Given the description of an element on the screen output the (x, y) to click on. 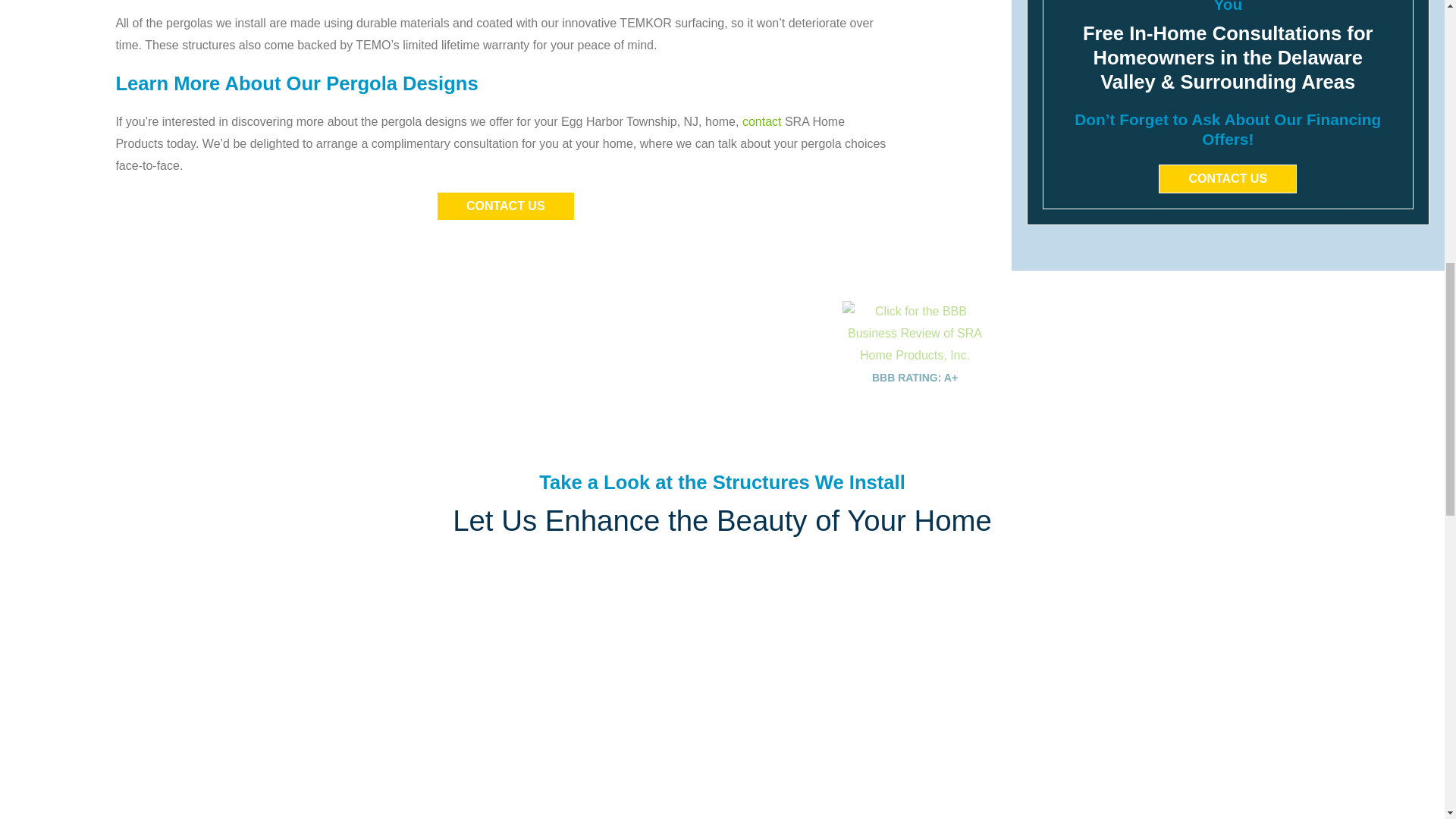
Click for the BBB Business Review of SRA Home Products, Inc. (915, 357)
CONTACT US (505, 205)
contact (761, 121)
CONTACT US (1227, 178)
